Given the description of an element on the screen output the (x, y) to click on. 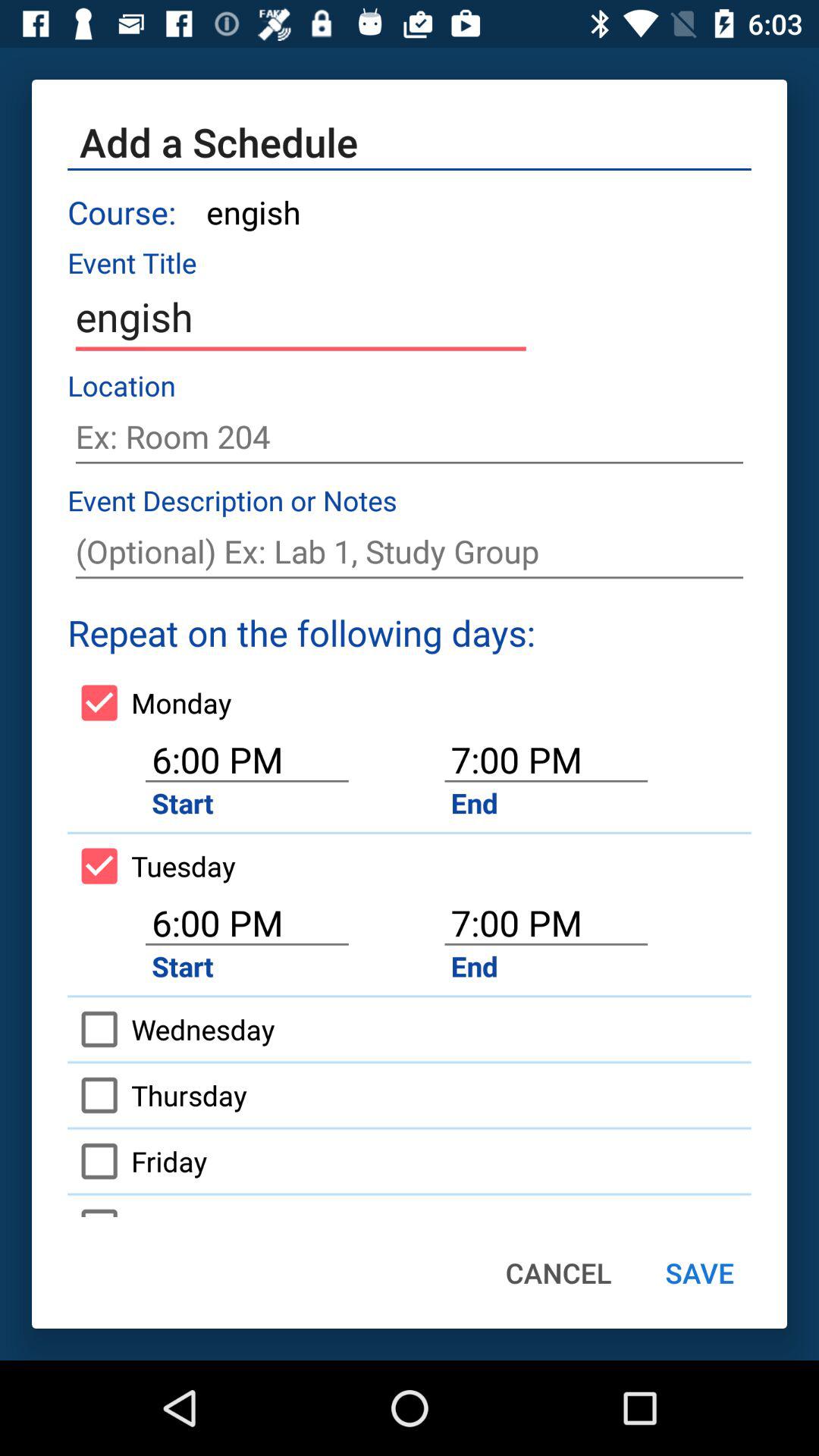
scroll to the cancel item (558, 1272)
